Given the description of an element on the screen output the (x, y) to click on. 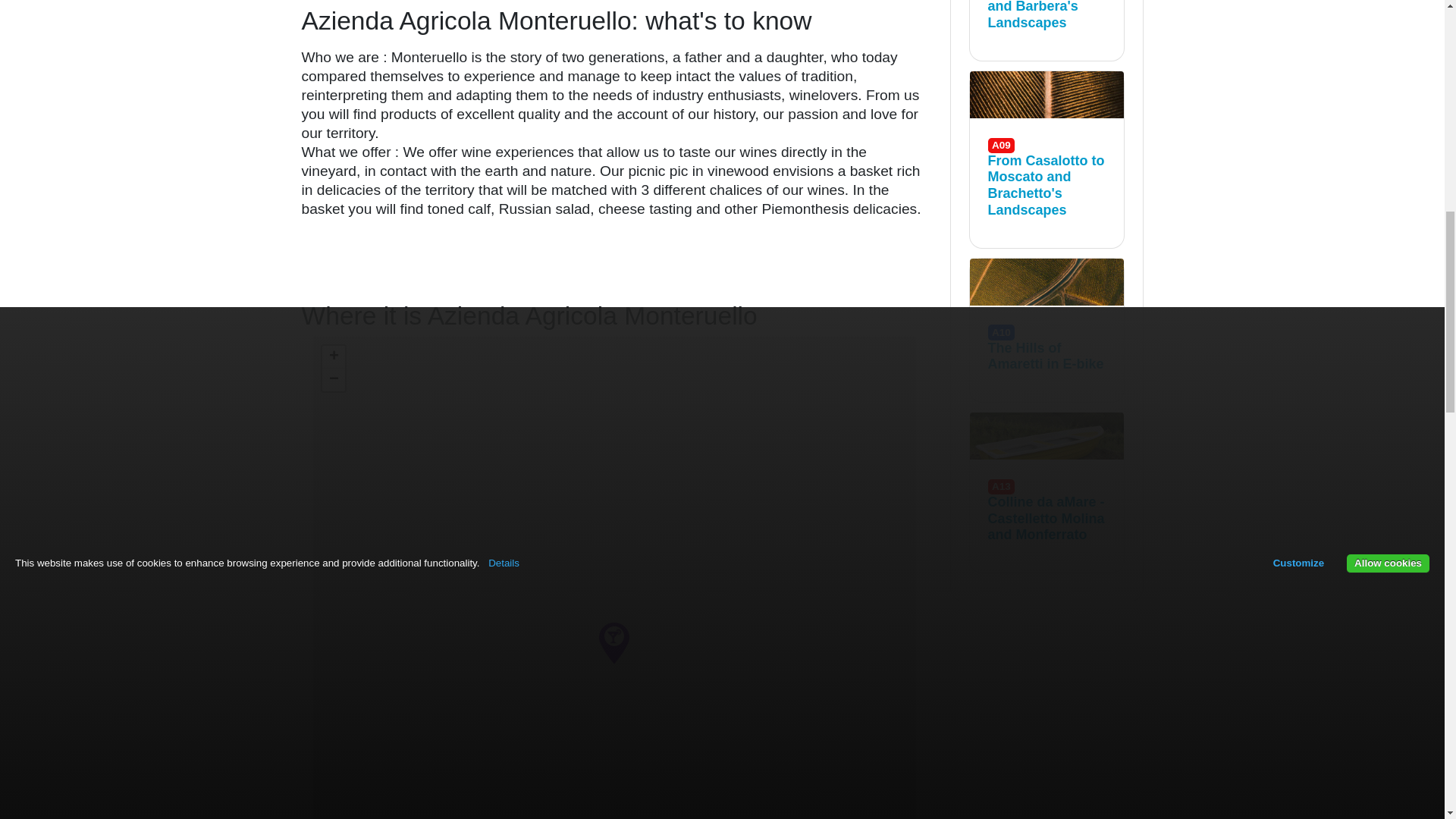
Zoom in (332, 356)
Colline da aMare - Castelletto Molina and Monferrato (1046, 518)
From Casalotto to Moscato and Brachetto's Landscapes (1045, 94)
From Casalotto to Moscato and Brachetto's Landscapes (1046, 185)
Colline da aMare - Castelletto Molina and Monferrato (1045, 435)
The Hills of Amaretti in E-bike (1046, 356)
Nizza Monferrato and Barbera's Landscapes (1046, 15)
The Hills of Amaretti in E-bike (1045, 281)
Zoom out (332, 379)
